Given the description of an element on the screen output the (x, y) to click on. 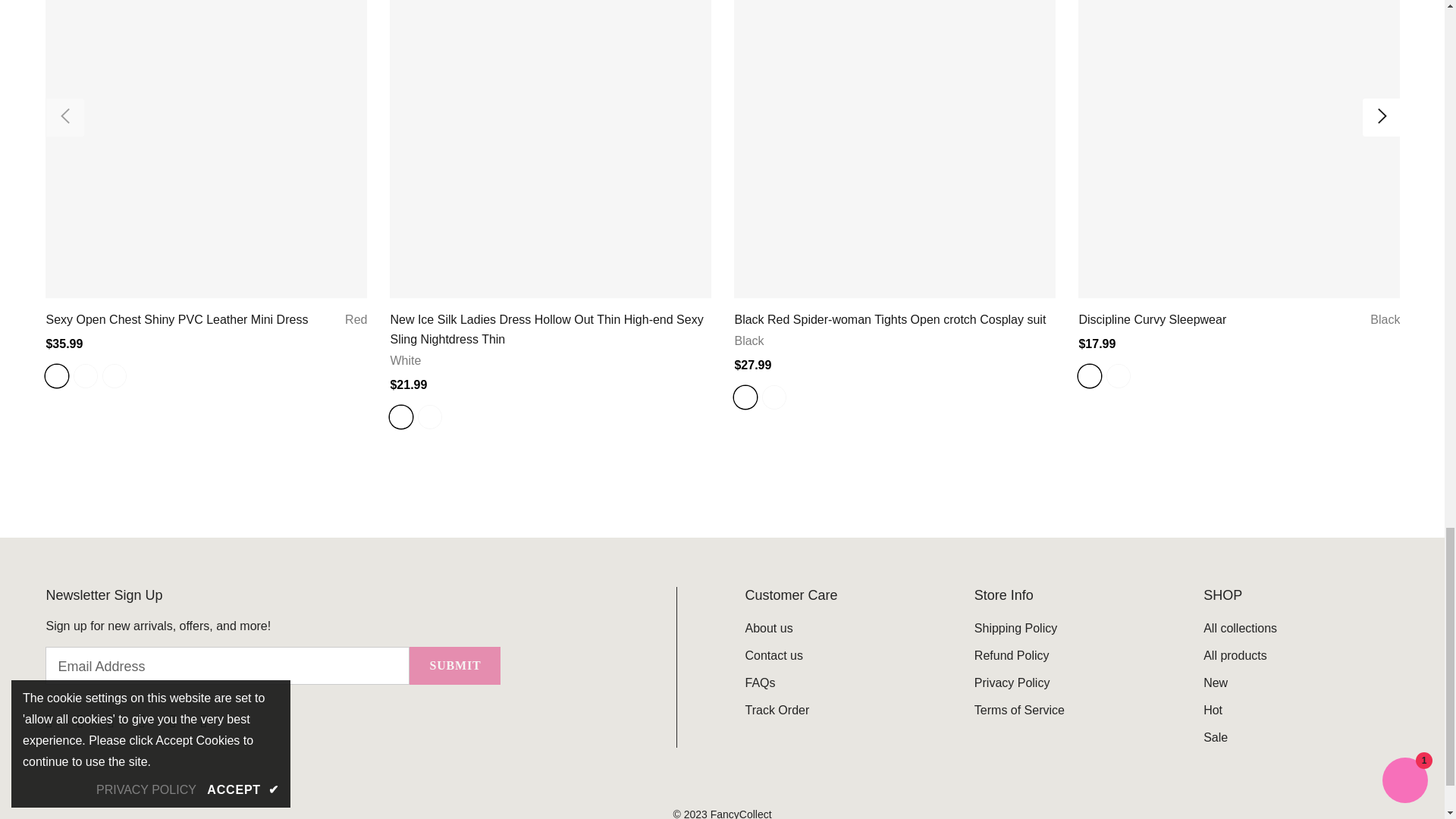
Submit (454, 665)
